Given the description of an element on the screen output the (x, y) to click on. 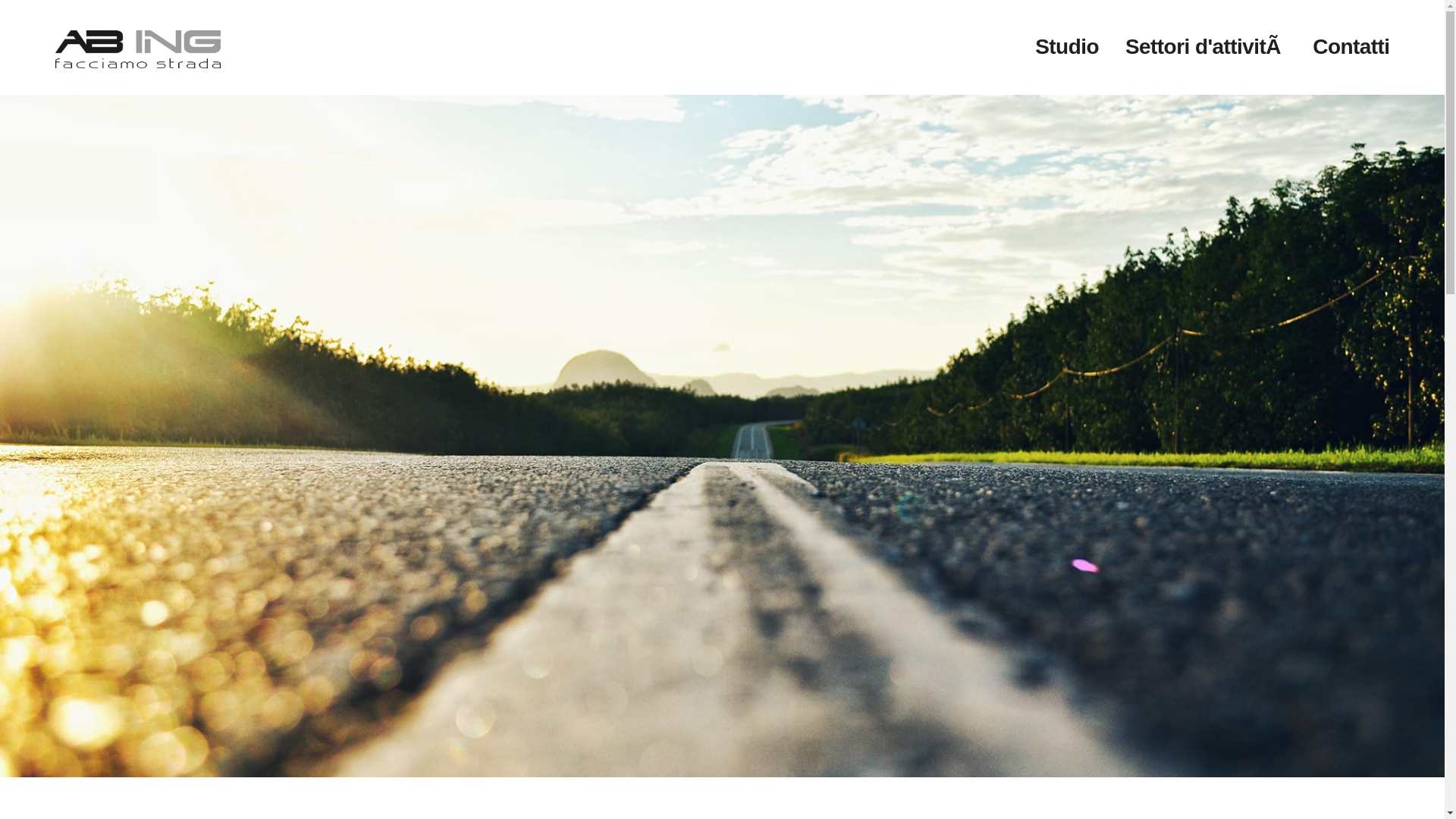
Studio Element type: text (1066, 46)
Contatti Element type: text (1350, 46)
